Given the description of an element on the screen output the (x, y) to click on. 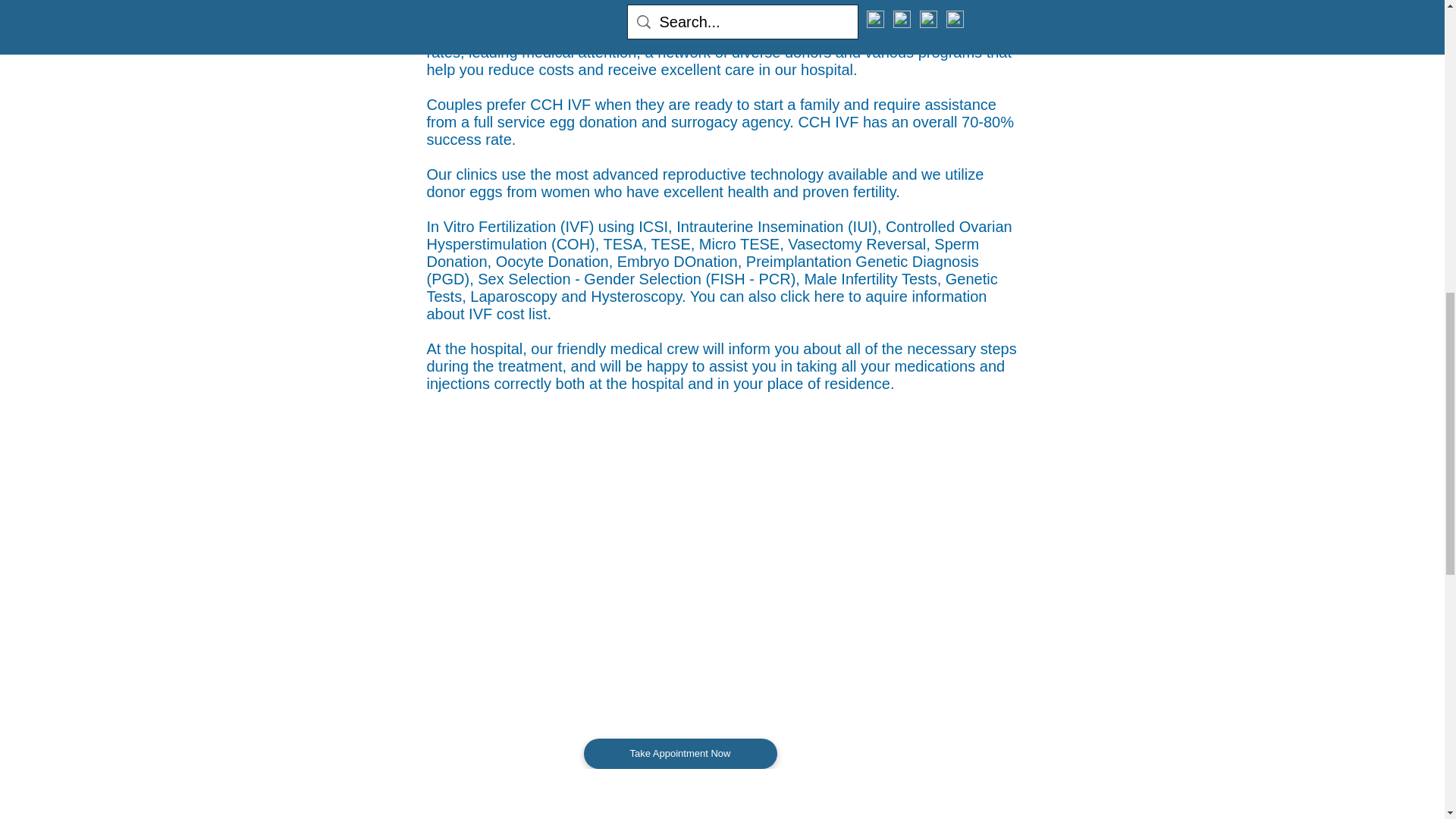
Take Appointment Now (680, 753)
